Given the description of an element on the screen output the (x, y) to click on. 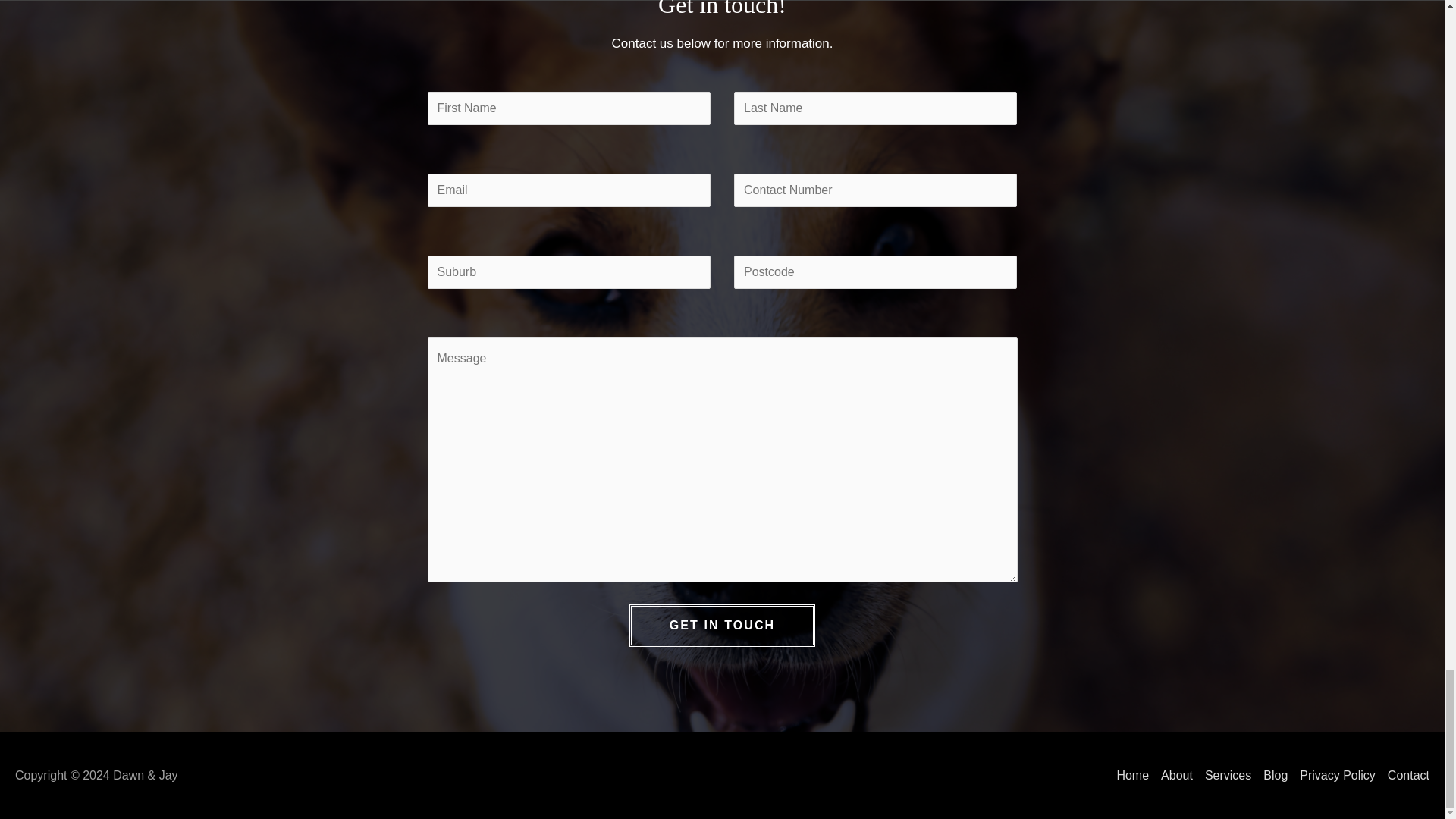
Privacy Policy (1331, 775)
Contact (1402, 775)
Home (1125, 775)
GET IN TOUCH (721, 625)
Blog (1268, 775)
About (1170, 775)
GET IN TOUCH (721, 625)
Services (1221, 775)
